Given the description of an element on the screen output the (x, y) to click on. 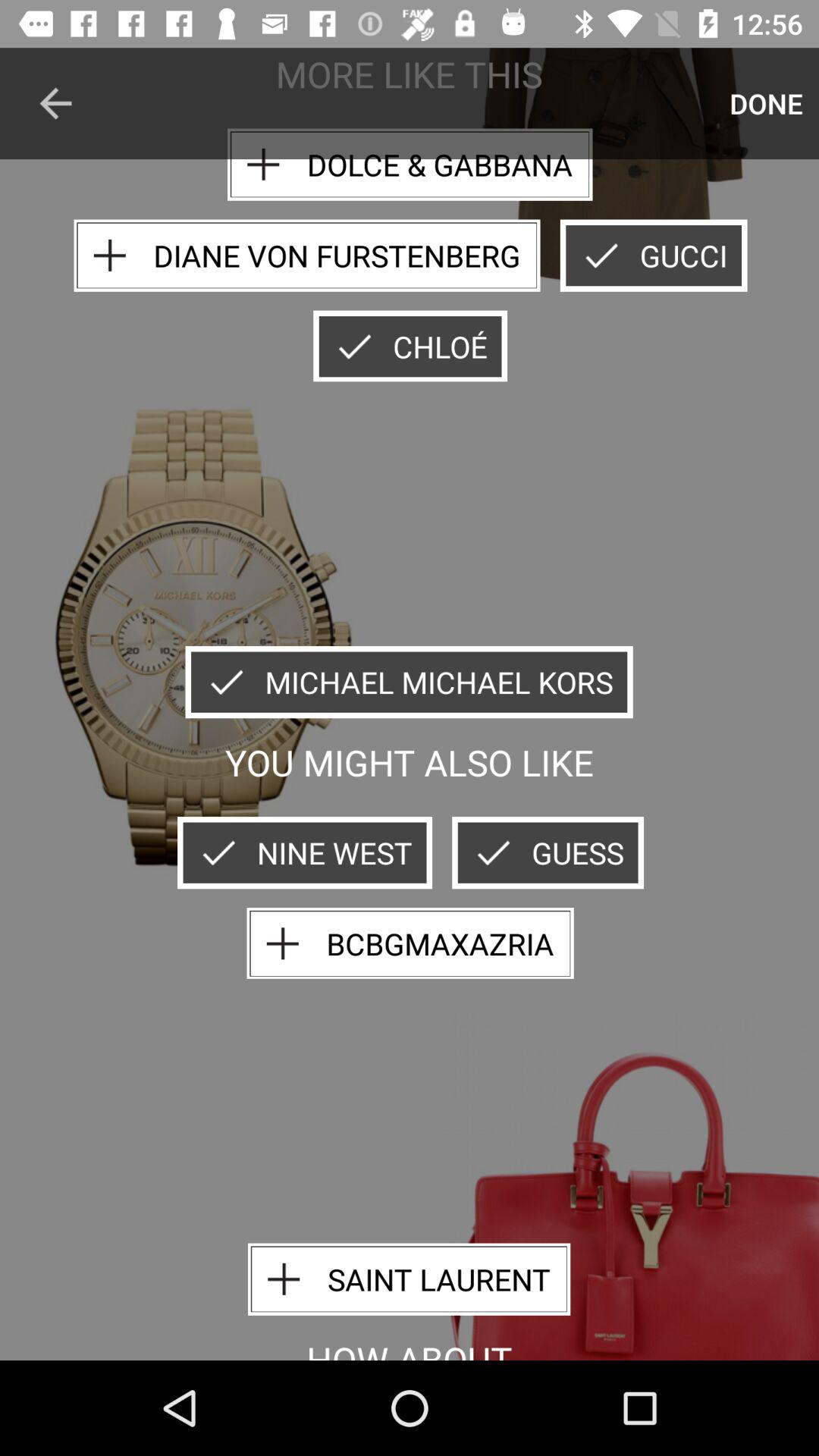
turn off gucci (653, 255)
